Given the description of an element on the screen output the (x, y) to click on. 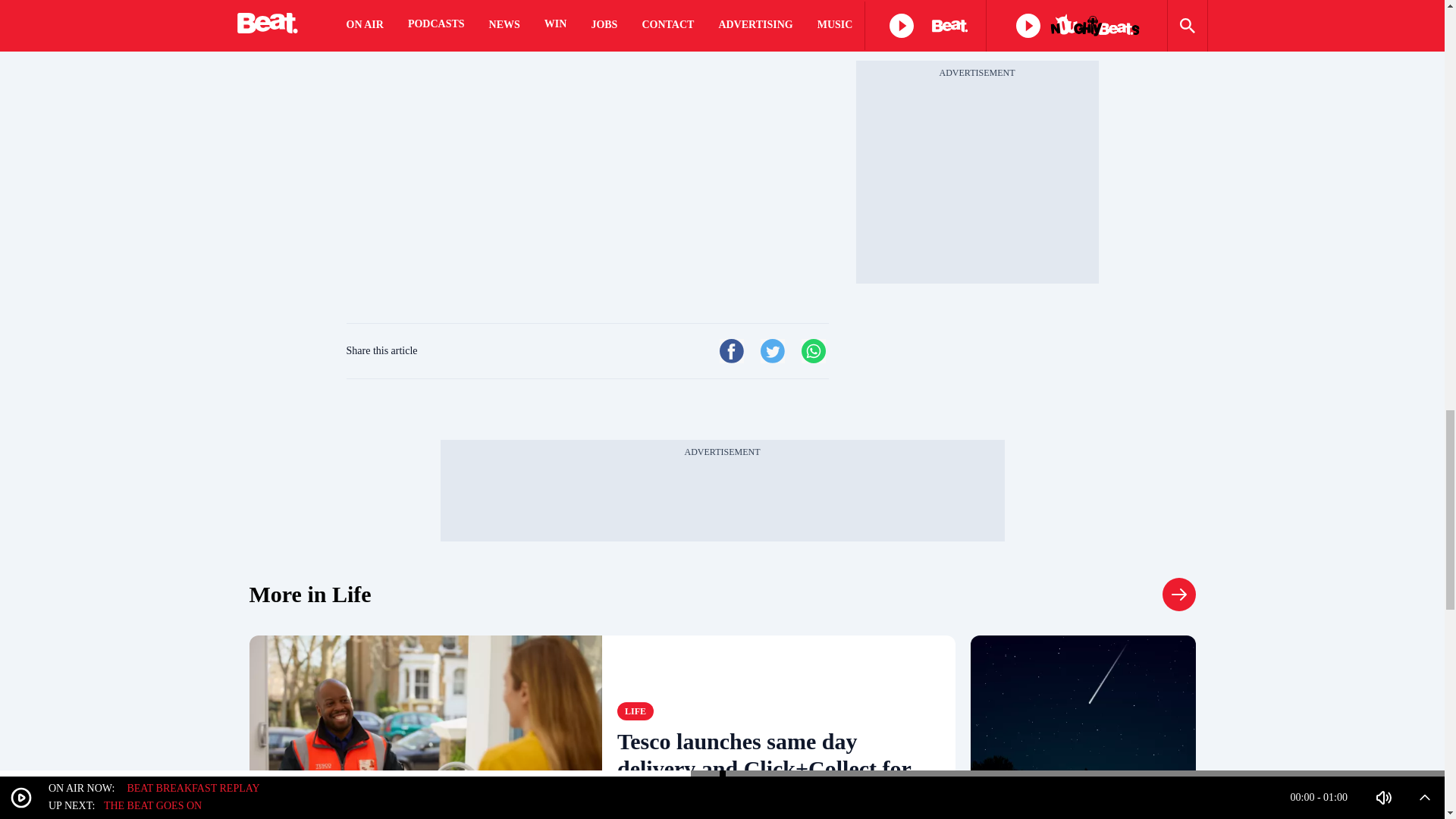
News (1006, 780)
Life (309, 594)
Life (1178, 594)
Life (635, 710)
